Given the description of an element on the screen output the (x, y) to click on. 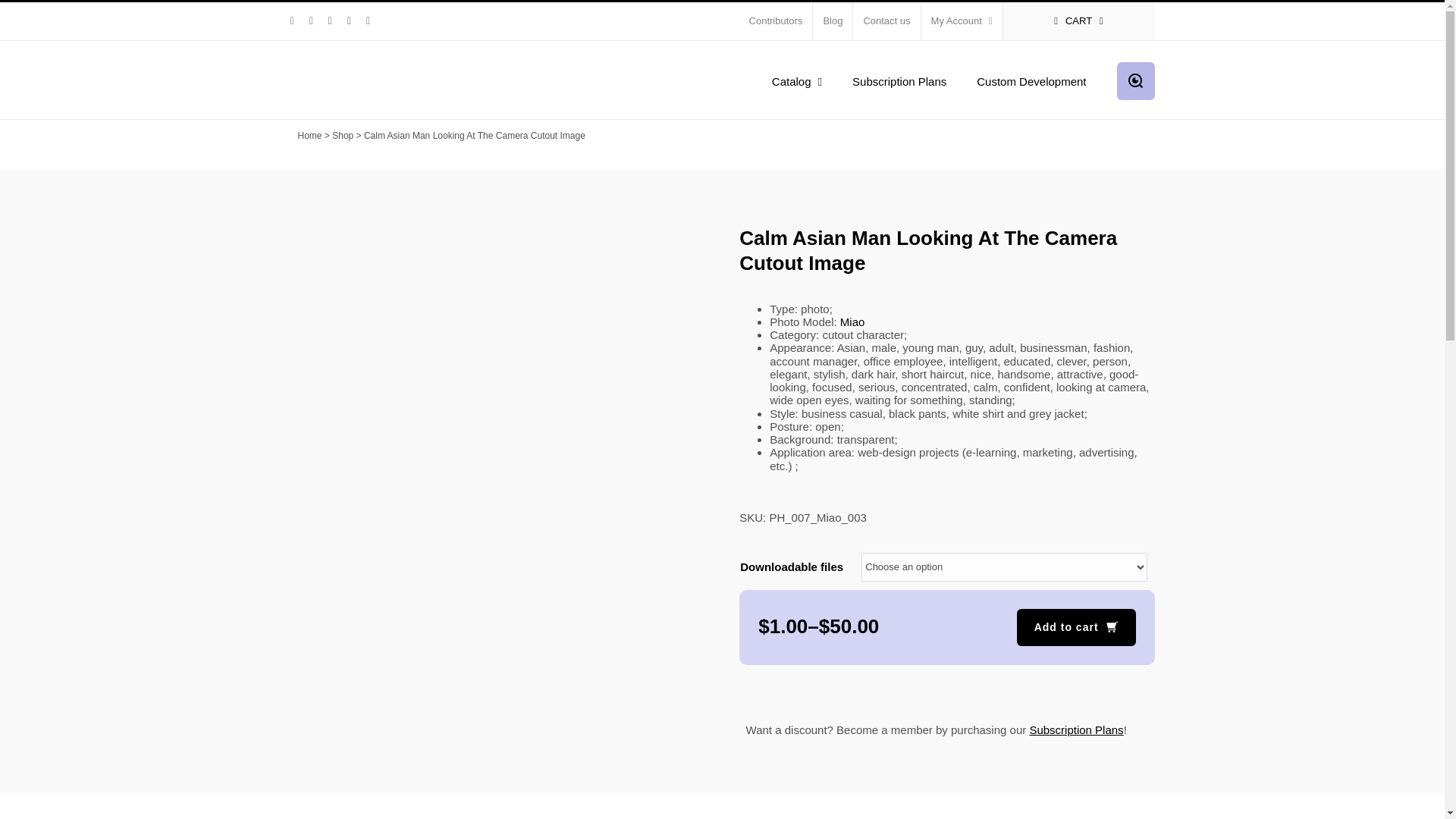
Search (1135, 80)
Contributors (775, 21)
Subscription Plans (898, 79)
My Account (962, 21)
Custom Development (1031, 79)
CART (1078, 21)
Log In (1025, 165)
Blog (831, 21)
Contact us (886, 21)
